Given the description of an element on the screen output the (x, y) to click on. 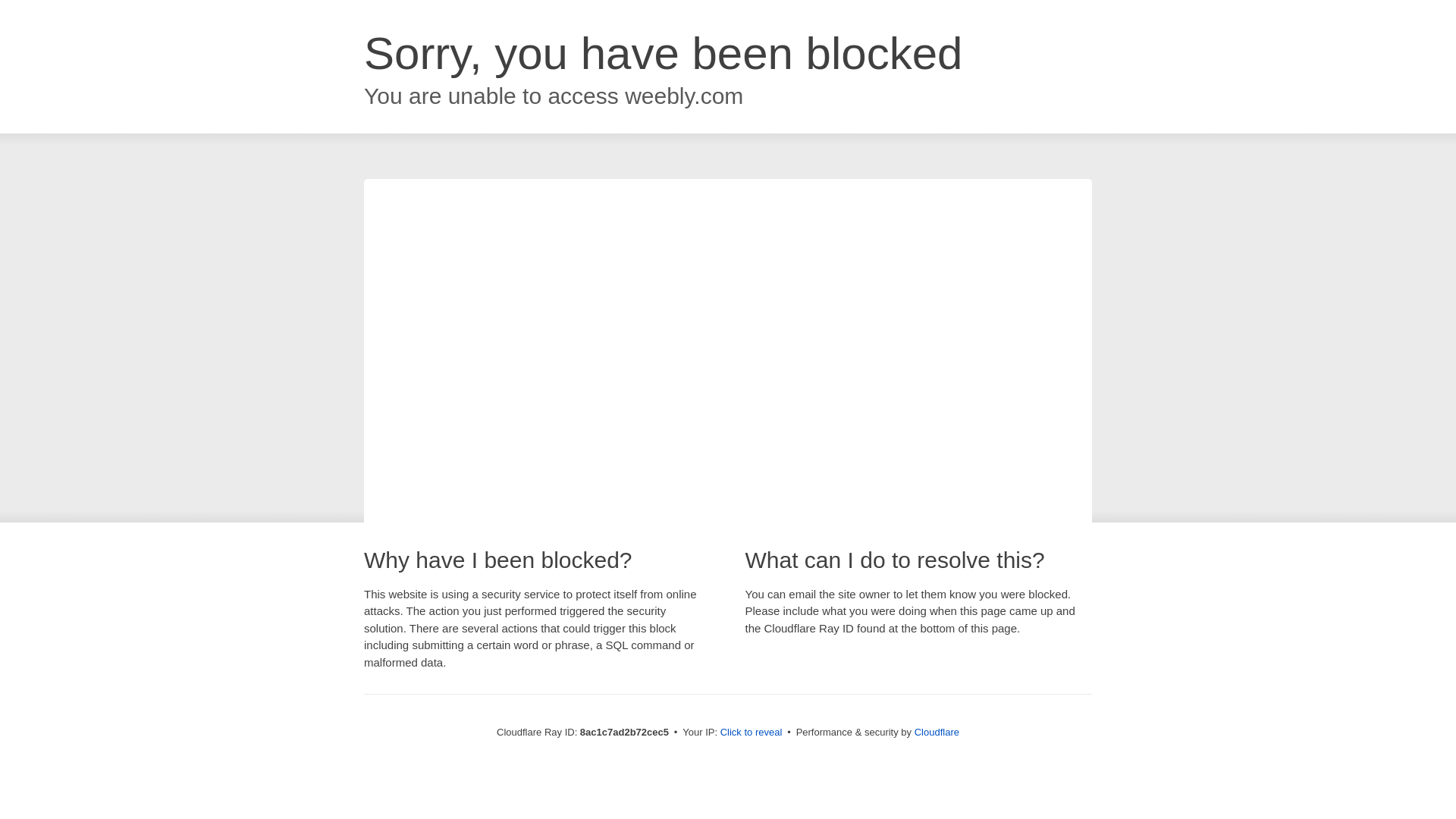
Click to reveal (751, 732)
Cloudflare (936, 731)
